Given the description of an element on the screen output the (x, y) to click on. 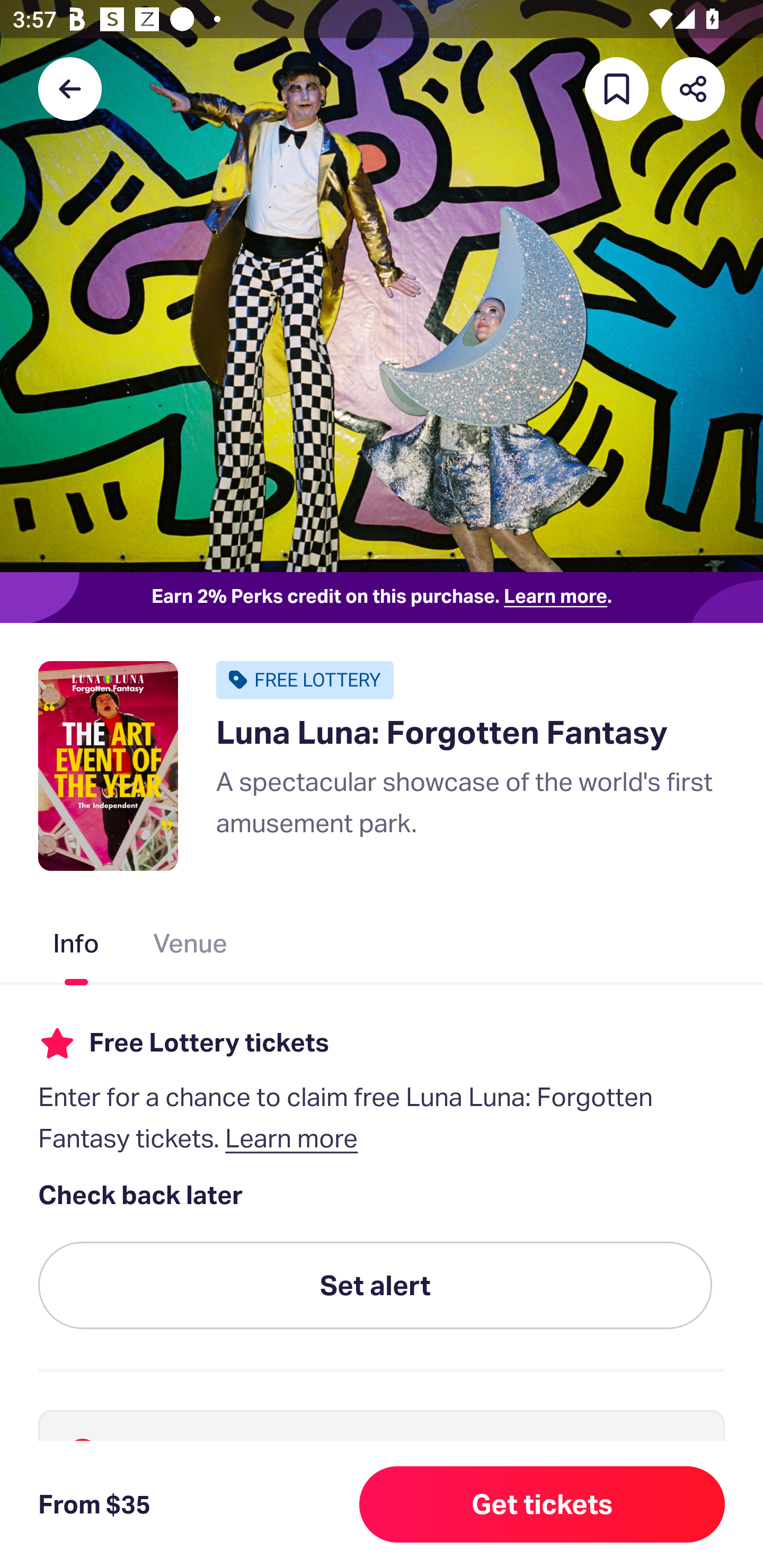
Earn 2% Perks credit on this purchase. Learn more. (381, 597)
Venue (190, 946)
Set alert (374, 1286)
Get tickets (541, 1504)
